Given the description of an element on the screen output the (x, y) to click on. 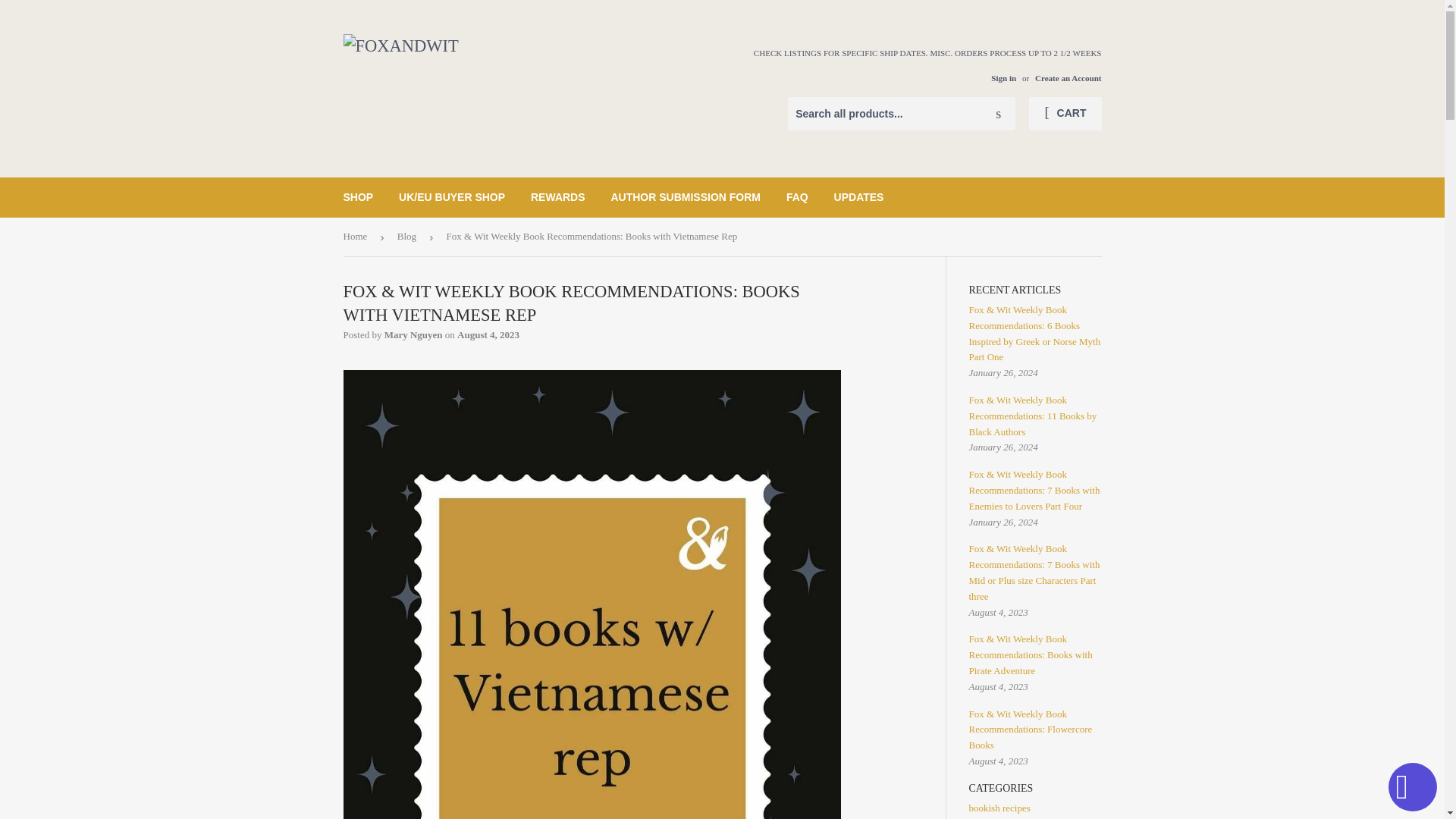
UPDATES (858, 197)
Search (997, 114)
REWARDS (557, 197)
FAQ (796, 197)
Create an Account (1068, 77)
AUTHOR SUBMISSION FORM (684, 197)
Smile.io Rewards Program Launcher (37, 780)
Show articles tagged bookish recipes (999, 808)
CART (1064, 113)
Sign in (1003, 77)
SHOP (358, 197)
